Given the description of an element on the screen output the (x, y) to click on. 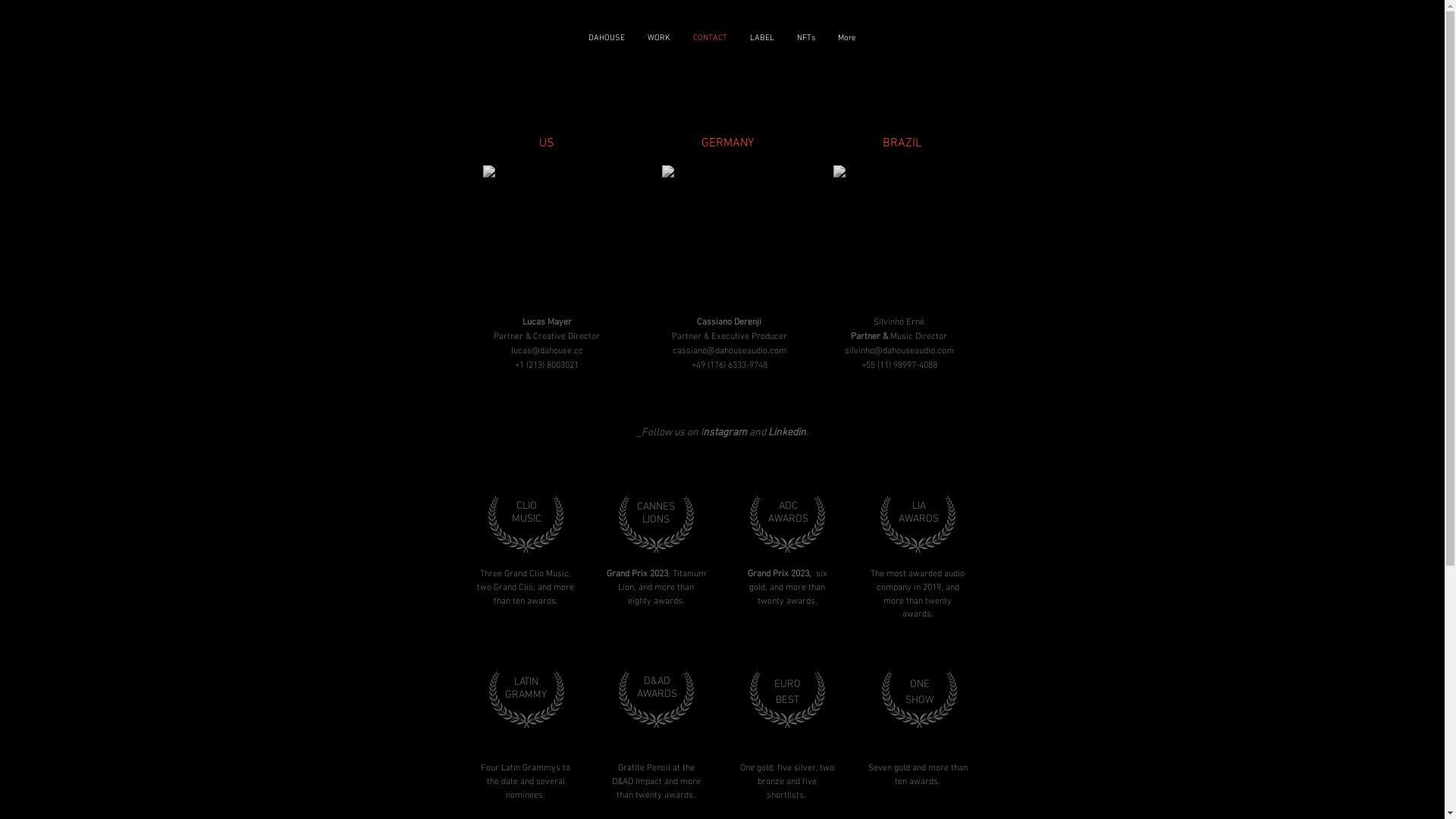
Linkedin Element type: text (786, 432)
WORK Element type: text (658, 51)
nstagram Element type: text (724, 432)
cassiano@dahouseaudio.com Element type: text (728, 350)
I Element type: text (701, 432)
LABEL Element type: text (761, 51)
DAHOUSE Element type: text (606, 51)
lucas@dahouse.cc Element type: text (547, 350)
silvinho@dahouseaudio.com Element type: text (898, 350)
CONTACT Element type: text (709, 51)
NFTs Element type: text (805, 51)
